Given the description of an element on the screen output the (x, y) to click on. 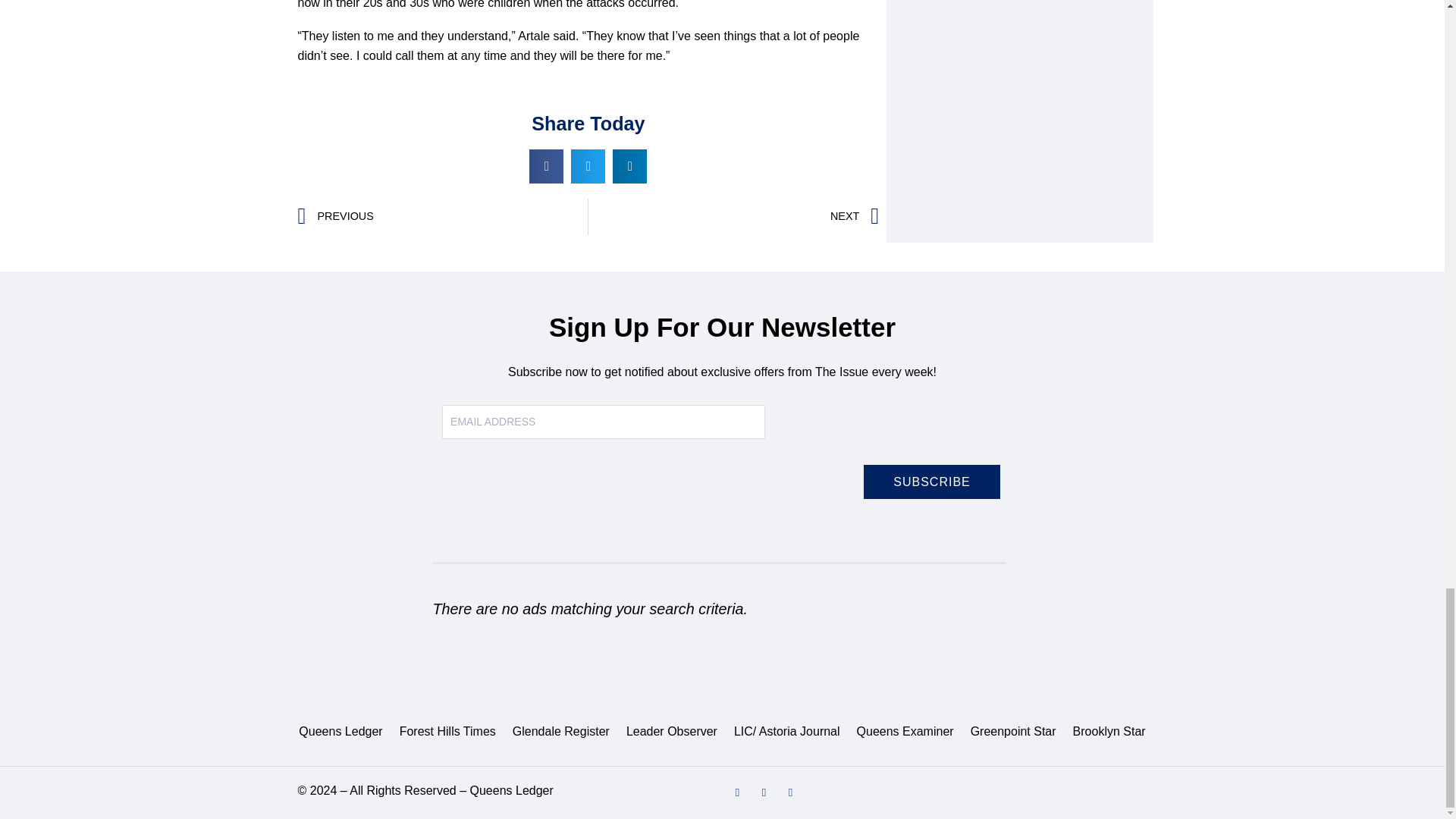
Subscribe (931, 481)
